Given the description of an element on the screen output the (x, y) to click on. 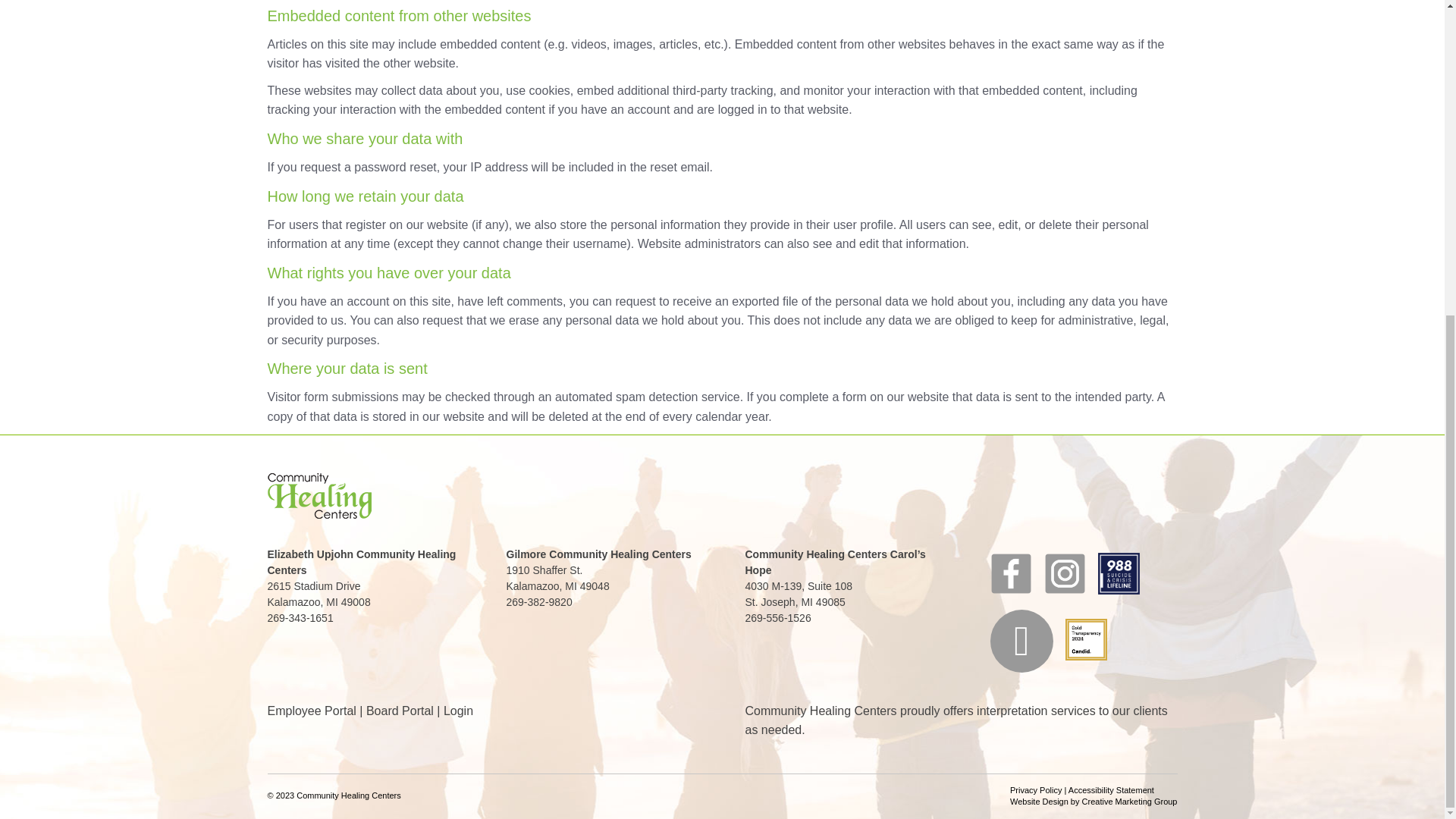
LinkedIn (1021, 640)
instagram (1063, 595)
facebook (1011, 573)
facebook (1011, 595)
988 (1118, 573)
988 (1118, 595)
instagram (1063, 573)
Guidestar (1085, 639)
Guidestar (1085, 662)
